Given the description of an element on the screen output the (x, y) to click on. 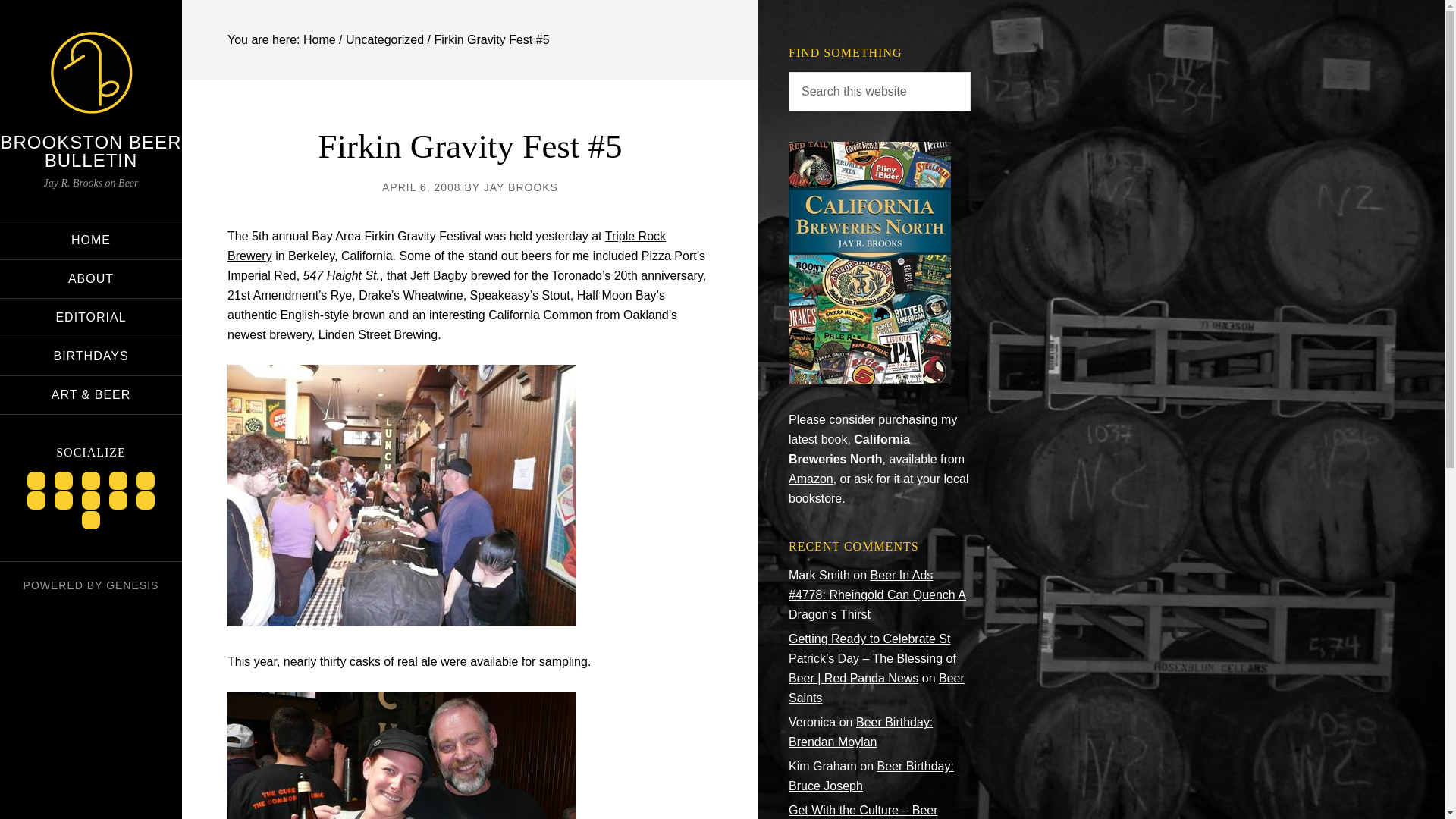
ABOUT (91, 279)
Beer Saints (876, 687)
GENESIS (132, 585)
Northern California Breweries (869, 379)
HOME (91, 240)
Triple Rock Brewery (446, 246)
BROOKSTON BEER BULLETIN (91, 150)
JAY BROOKS (520, 186)
EDITORIAL (91, 317)
Home (319, 39)
Beer Birthday: Bruce Joseph (871, 776)
Amazon (810, 478)
Beer Birthday: Brendan Moylan (861, 731)
